Given the description of an element on the screen output the (x, y) to click on. 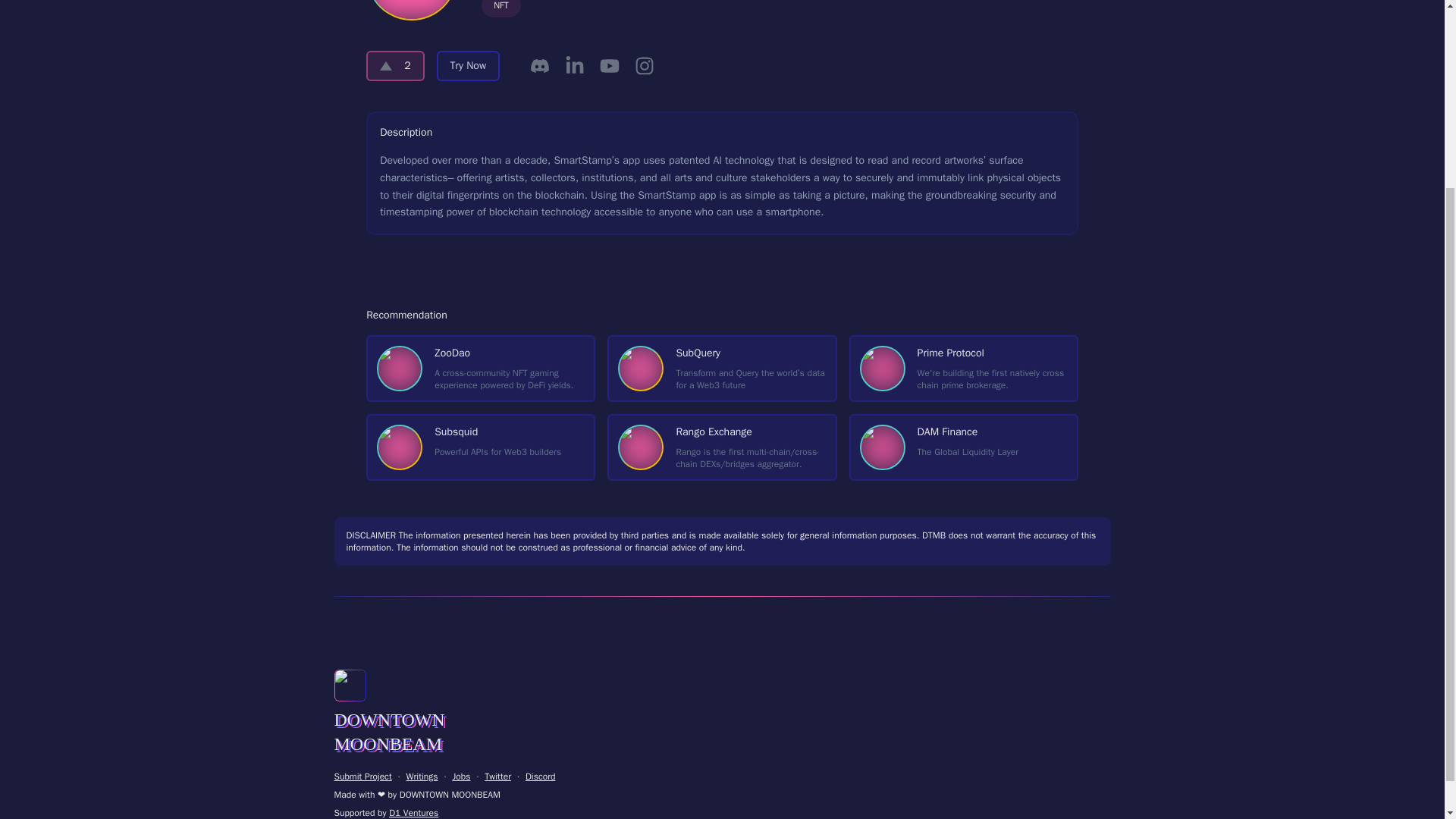
NFT (501, 8)
ZooDao (963, 447)
SmartStamp (480, 368)
2 (468, 65)
Prime Protocol (394, 65)
Submit Project (963, 368)
Jobs (362, 776)
